Given the description of an element on the screen output the (x, y) to click on. 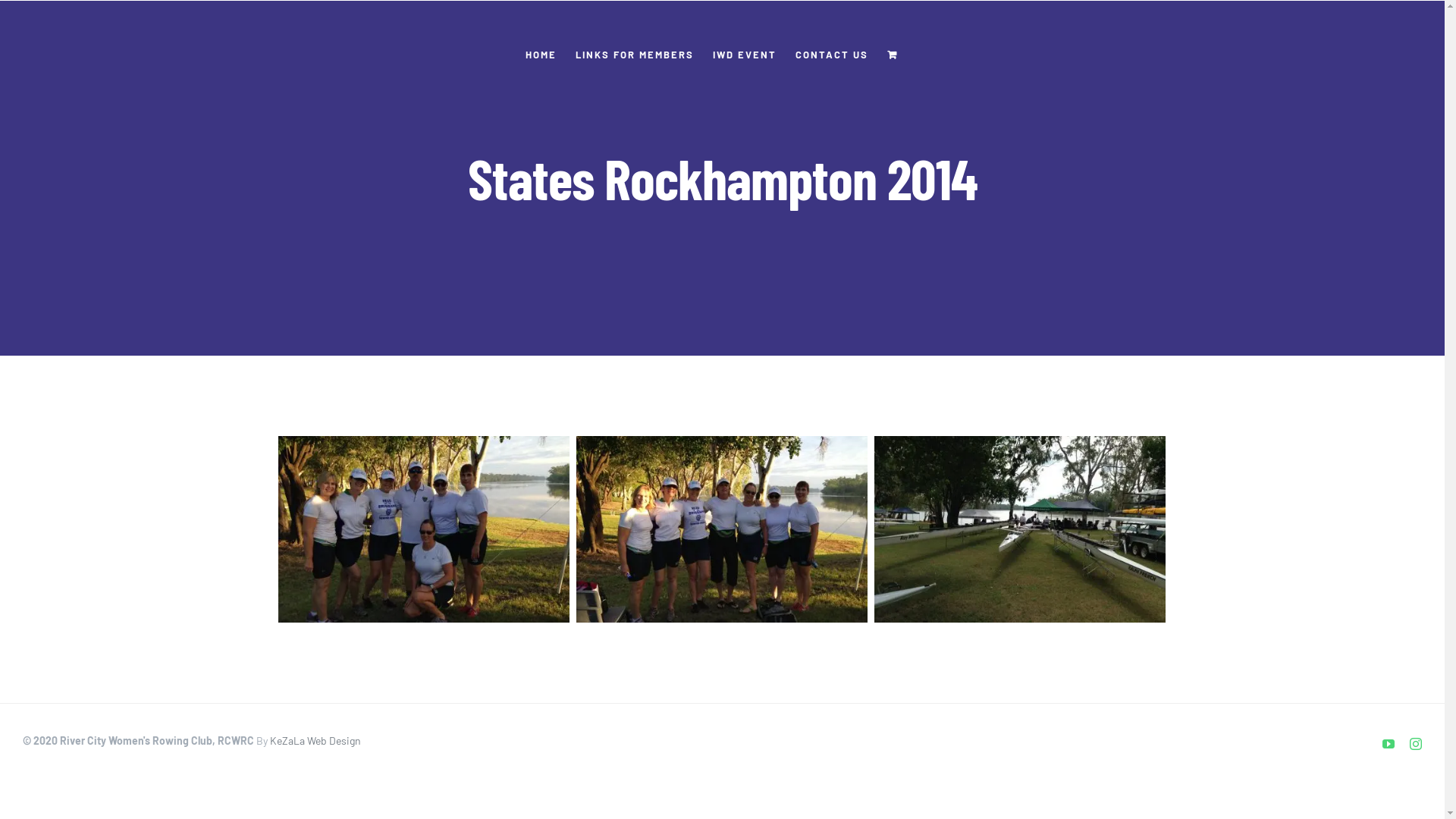
LINKS FOR MEMBERS Element type: text (633, 54)
IWD EVENT Element type: text (744, 54)
Instagram Element type: text (1415, 743)
CONTACT US Element type: text (830, 54)
states-rockhampton-2014_01 Element type: hover (1019, 529)
KeZaLa Web Design Element type: text (314, 740)
YouTube Element type: text (1388, 743)
states-rockhampton-2014_03 Element type: hover (423, 529)
HOME Element type: text (539, 54)
states-rockhampton-2014_02 Element type: hover (721, 529)
